Given the description of an element on the screen output the (x, y) to click on. 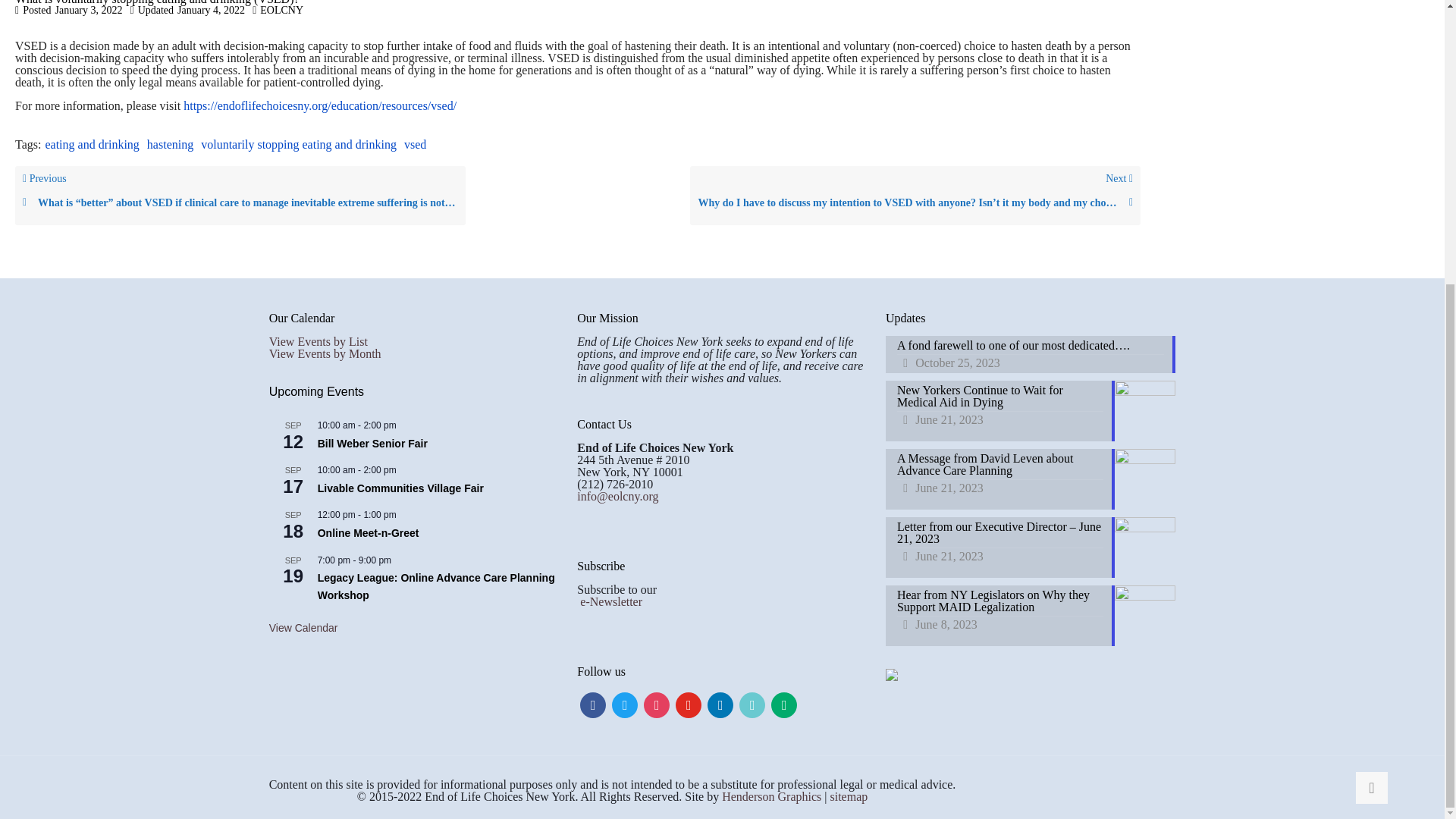
Facebook (592, 703)
Default Label (720, 703)
Legacy League: Online Advance Care Planning Workshop (435, 586)
Livable Communities Village Fair (400, 488)
Default Label (783, 703)
Instagram (656, 703)
View more events. (303, 627)
Online Meet-n-Greet (368, 533)
Default Label (688, 703)
Default Label (752, 703)
